Given the description of an element on the screen output the (x, y) to click on. 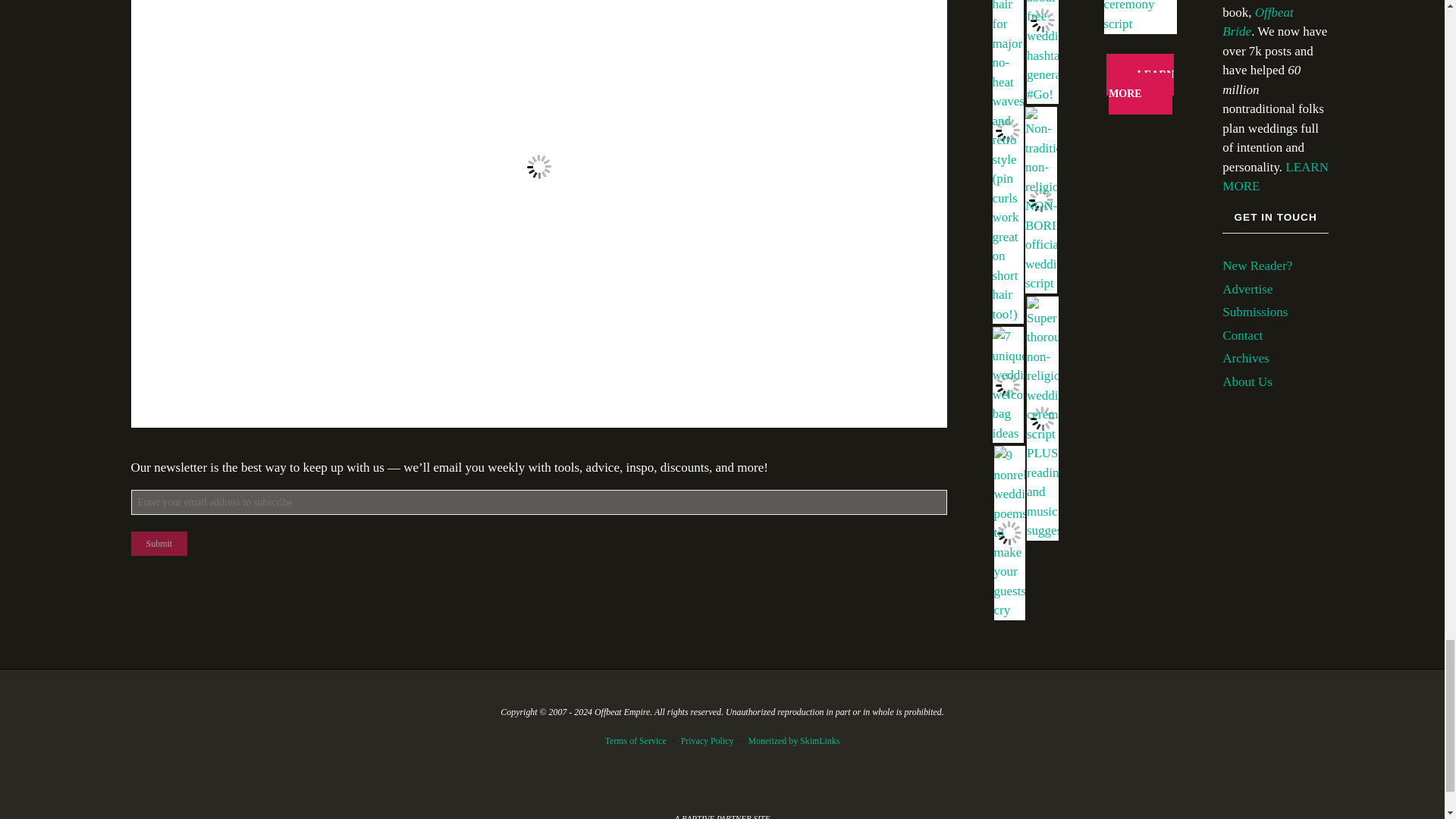
Submit (159, 543)
